Given the description of an element on the screen output the (x, y) to click on. 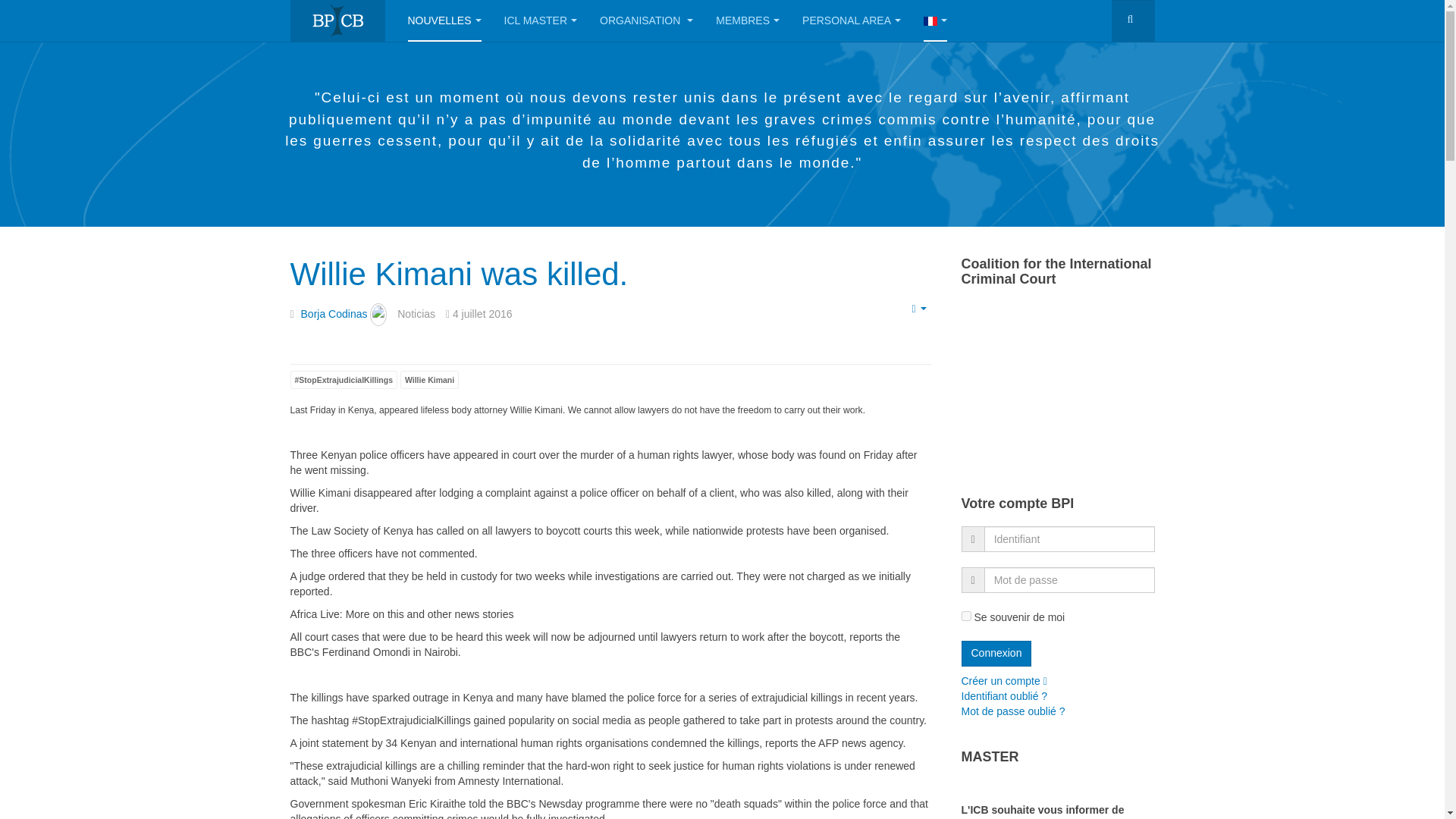
yes (965, 615)
Connexion (996, 653)
Willie Kimani was killed. (458, 273)
